Given the description of an element on the screen output the (x, y) to click on. 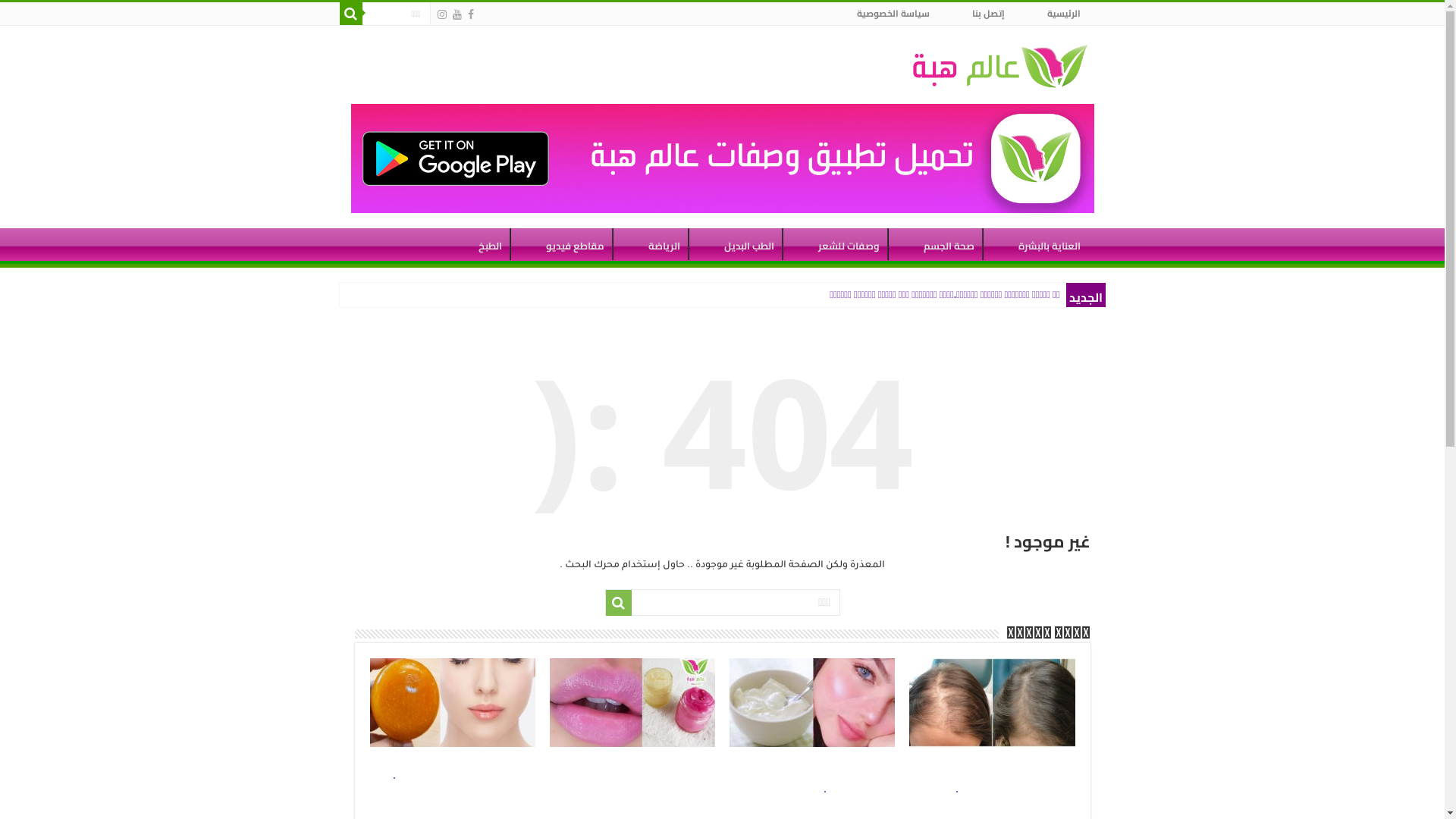
instagram Element type: hover (441, 14)
Facebook Element type: hover (469, 14)
Youtube Element type: hover (456, 14)
